Given the description of an element on the screen output the (x, y) to click on. 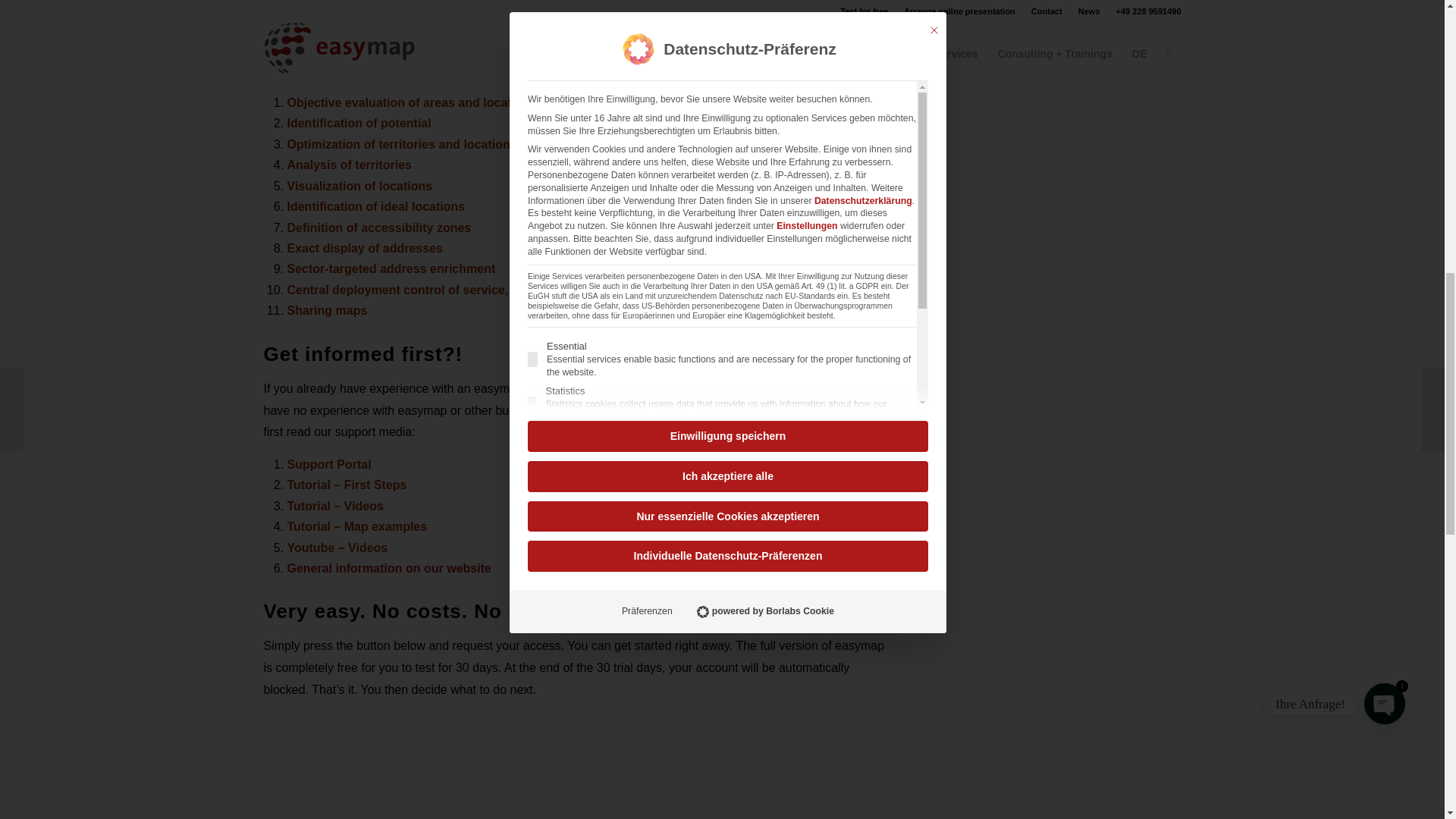
Support Portal (328, 463)
General information on our website (388, 567)
